Given the description of an element on the screen output the (x, y) to click on. 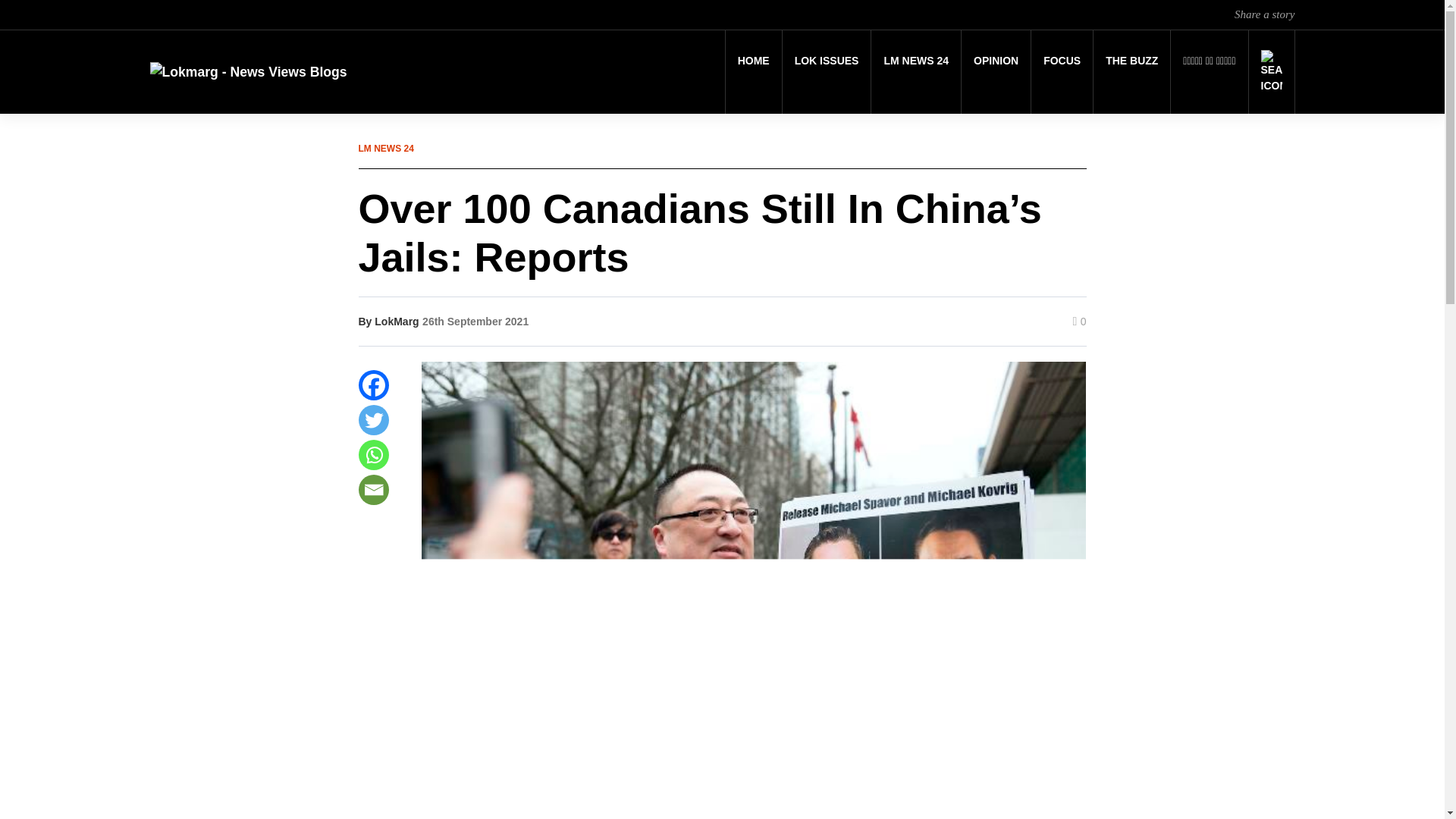
LOK ISSUES (826, 60)
Twitter (373, 419)
HOME (753, 60)
Share a story (1264, 14)
FOCUS (1061, 60)
Whatsapp (373, 454)
Opinion (995, 60)
LM NEWS 24 (915, 60)
LM News 24 (915, 60)
Home (753, 60)
OPINION (995, 60)
Lok Issues (826, 60)
Facebook (373, 385)
THE BUZZ (1131, 60)
LokMarg (396, 321)
